Given the description of an element on the screen output the (x, y) to click on. 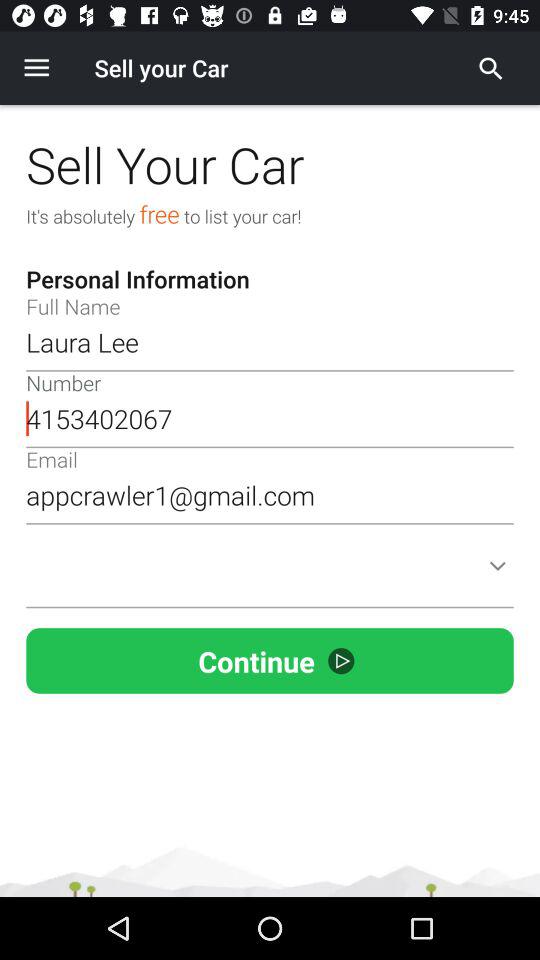
tap 4153402067 (269, 418)
